Given the description of an element on the screen output the (x, y) to click on. 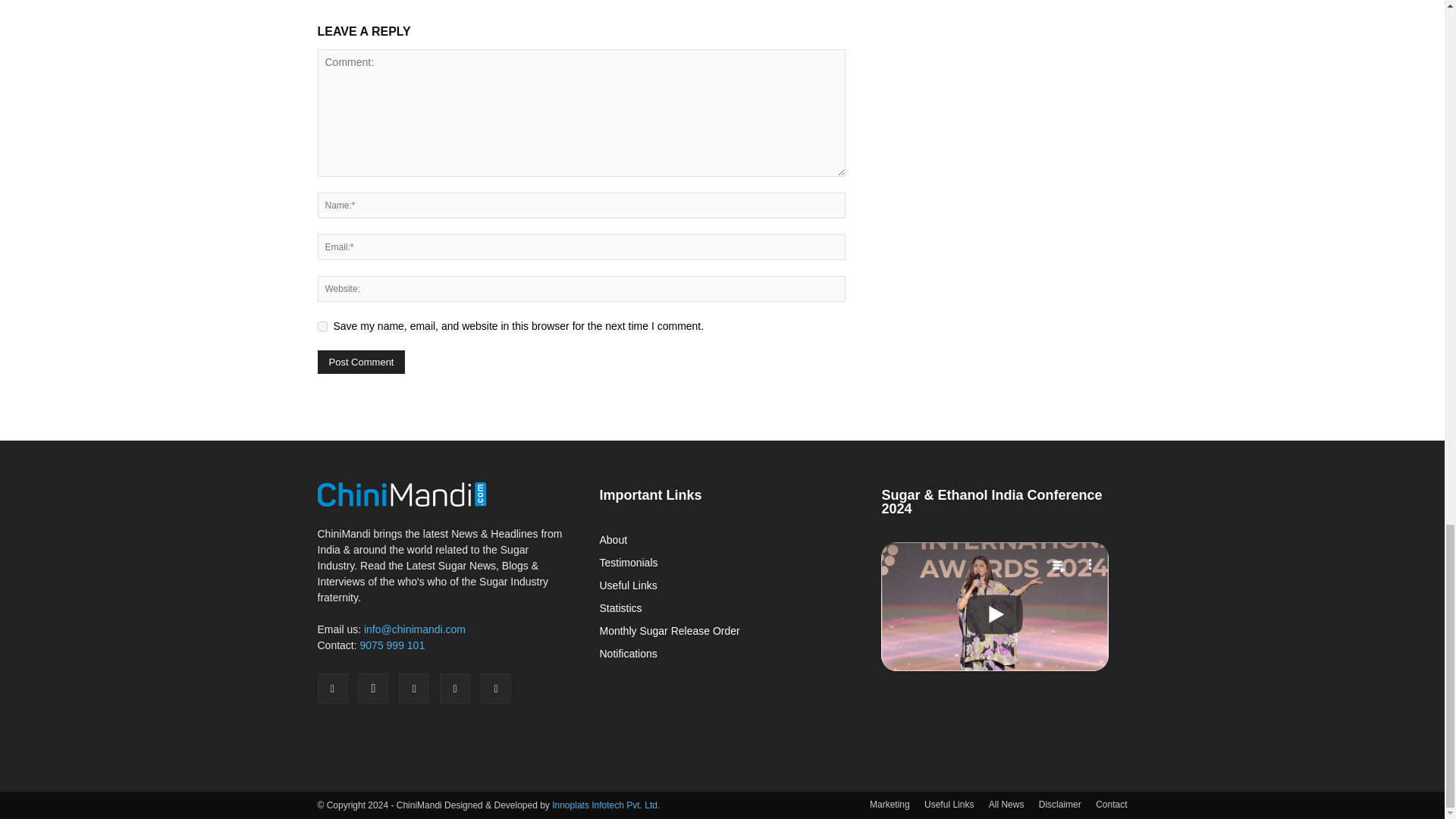
yes (321, 326)
Post Comment (360, 361)
